Given the description of an element on the screen output the (x, y) to click on. 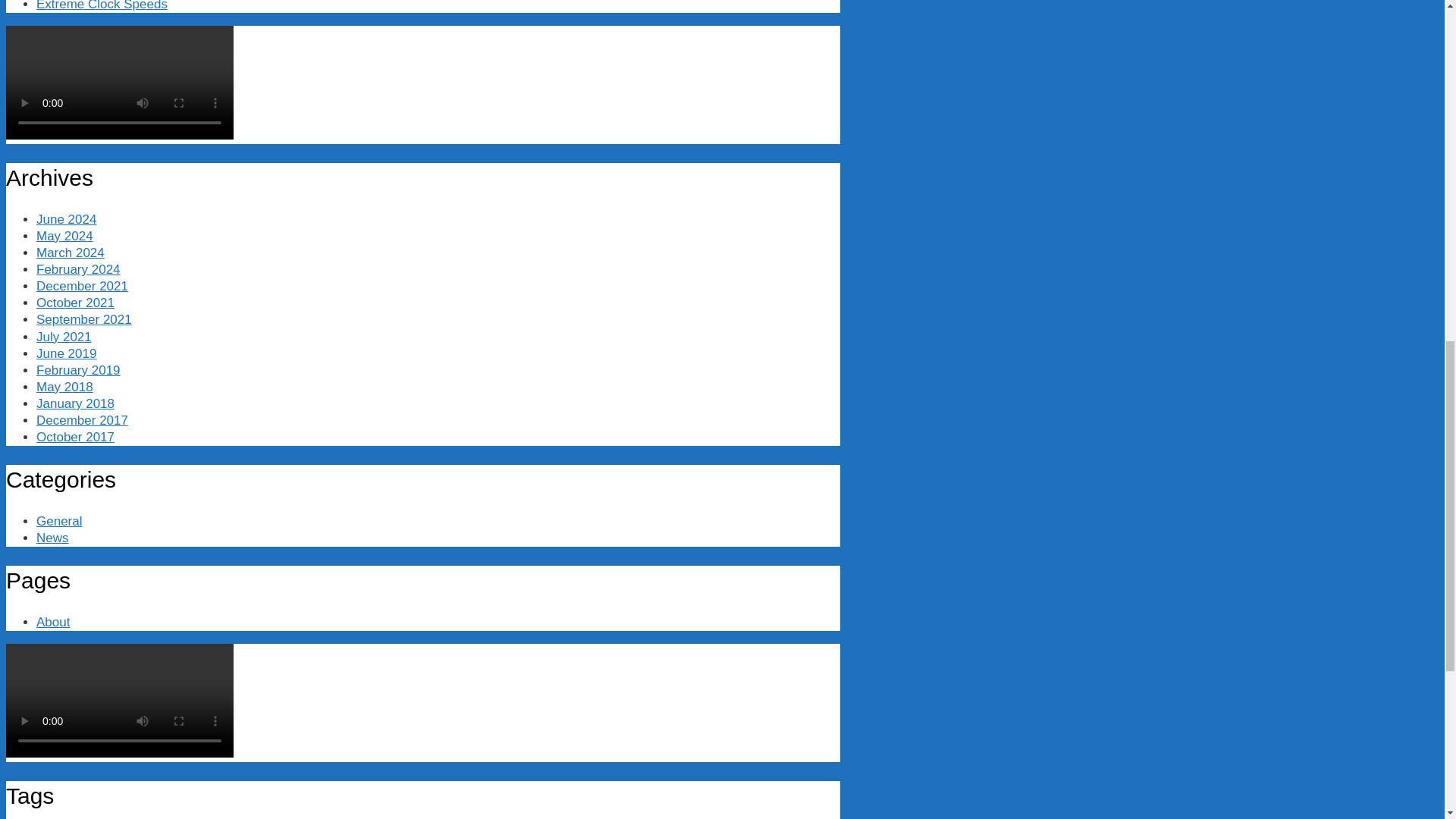
June 2019 (66, 353)
July 2021 (63, 336)
News (52, 537)
Extreme Clock Speeds (101, 5)
About (52, 622)
June 2024 (66, 219)
October 2017 (75, 436)
May 2018 (64, 386)
March 2024 (70, 252)
December 2021 (82, 286)
